Given the description of an element on the screen output the (x, y) to click on. 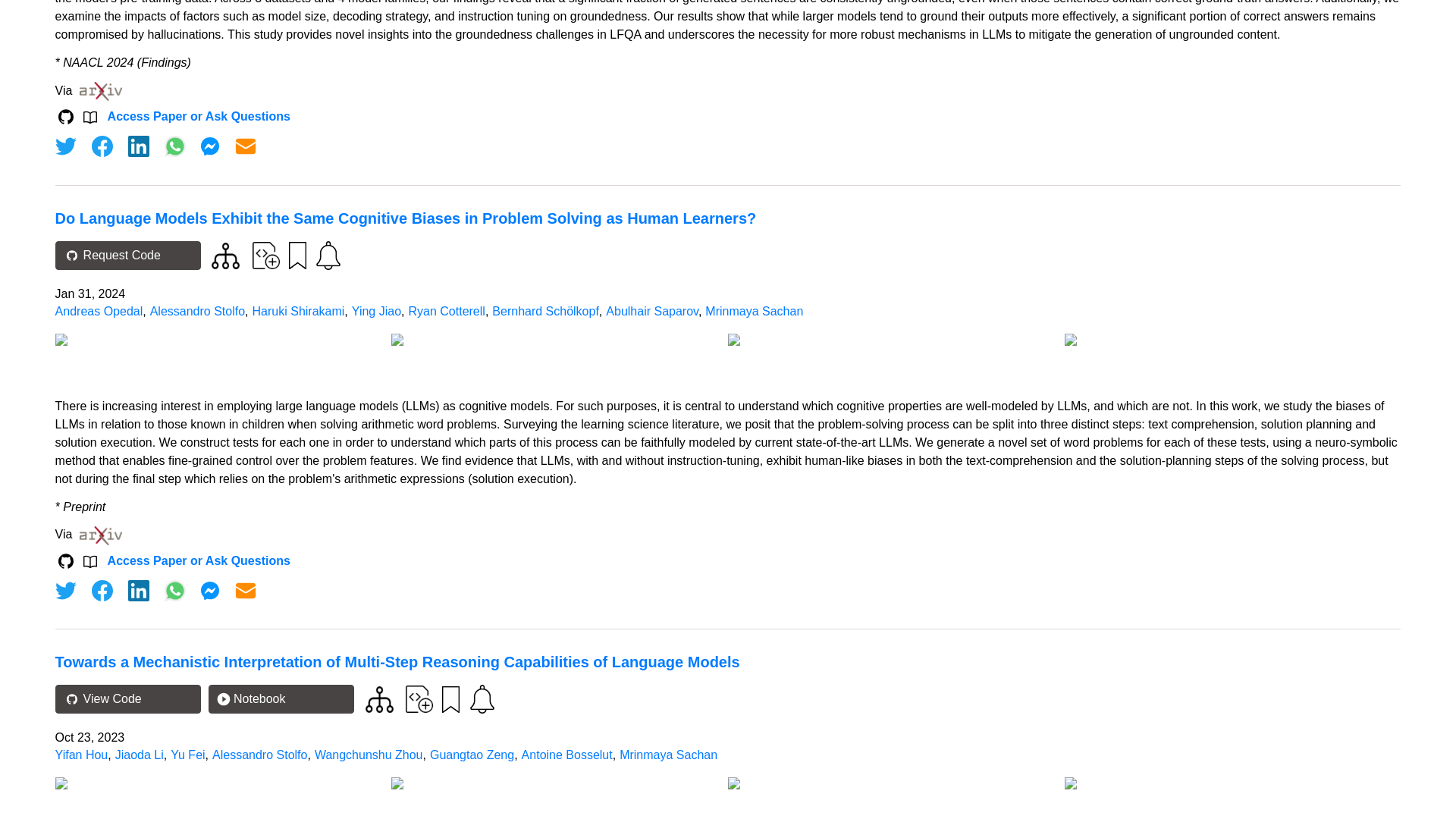
Contribute your code for this paper to the community (265, 254)
Share via Email (245, 146)
View code for similar papers (225, 255)
Access Paper or Ask Questions (198, 116)
Share via Email (245, 590)
